Given the description of an element on the screen output the (x, y) to click on. 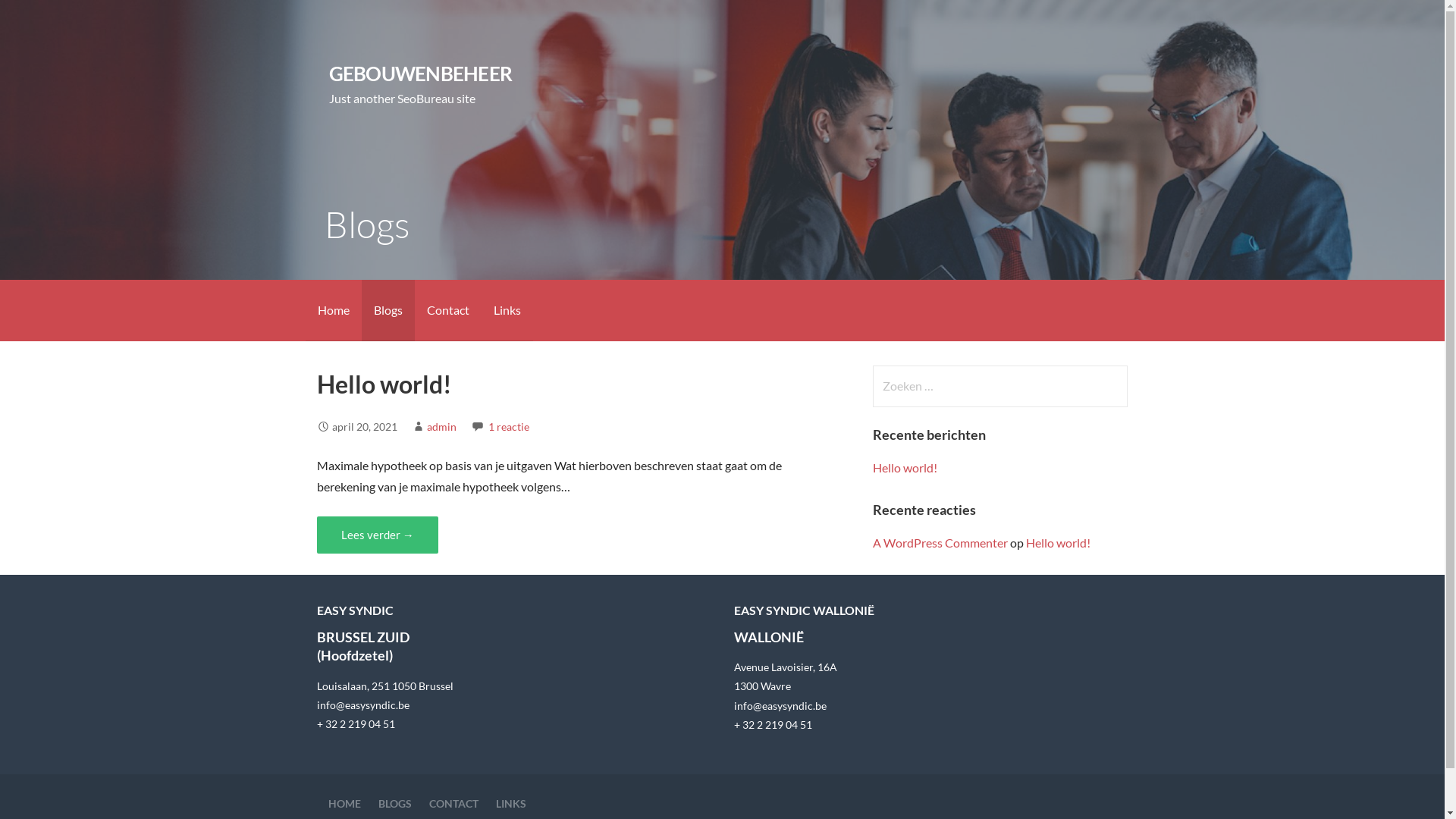
HOME Element type: text (343, 803)
CONTACT Element type: text (453, 803)
LINKS Element type: text (510, 803)
admin Element type: text (441, 426)
GEBOUWENBEHEER Element type: text (420, 73)
1 reactie Element type: text (508, 426)
BLOGS Element type: text (394, 803)
Home Element type: text (332, 310)
Zoeken Element type: text (42, 18)
Hello world! Element type: text (383, 383)
Blogs Element type: text (387, 310)
Links Element type: text (506, 310)
Hello world! Element type: text (904, 467)
Hello world! Element type: text (1058, 542)
Contact Element type: text (447, 310)
A WordPress Commenter Element type: text (939, 542)
